Given the description of an element on the screen output the (x, y) to click on. 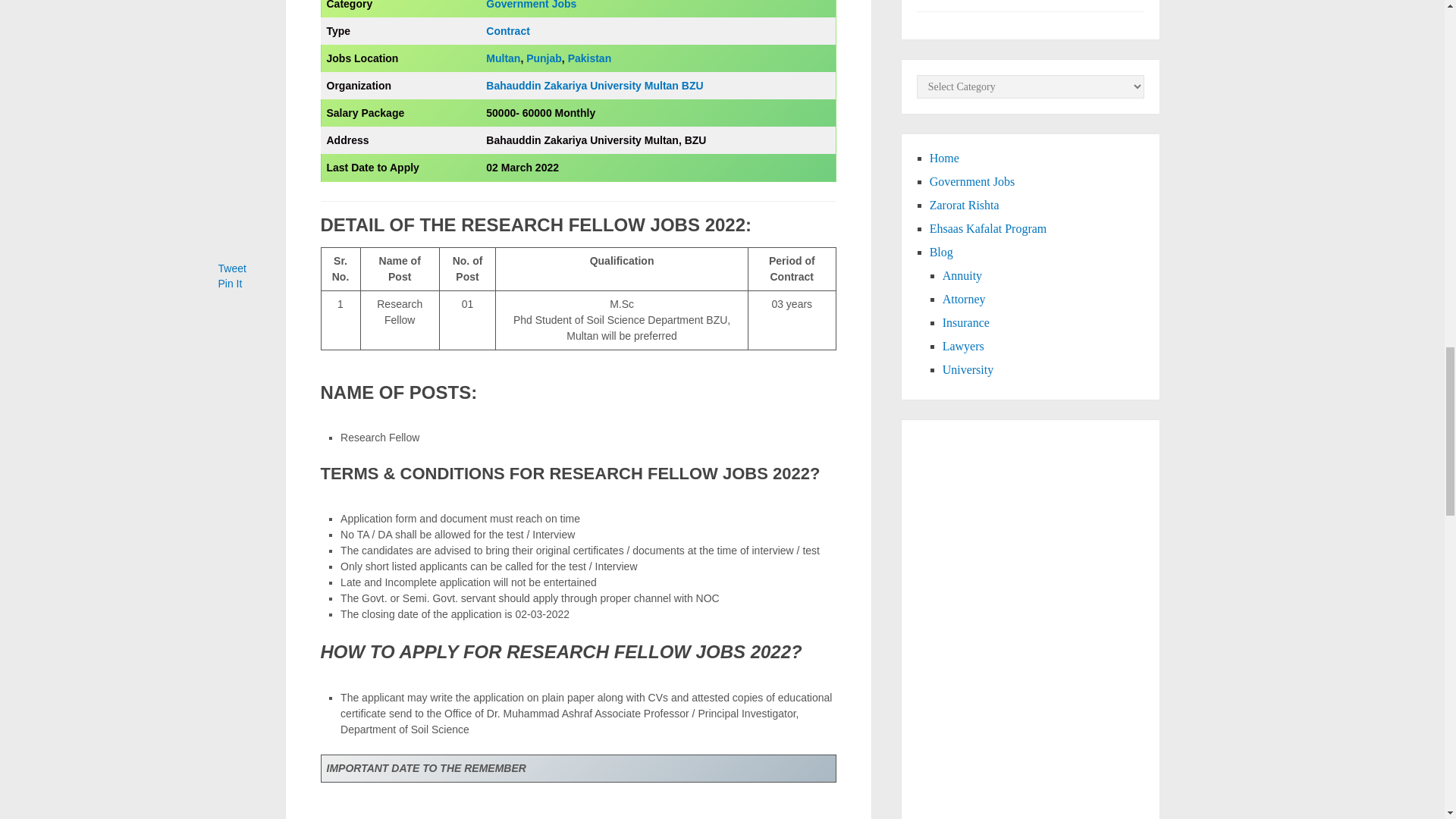
Punjab (543, 58)
Contract (507, 30)
Multan (502, 58)
Pakistan (589, 58)
Government Jobs (531, 4)
